Given the description of an element on the screen output the (x, y) to click on. 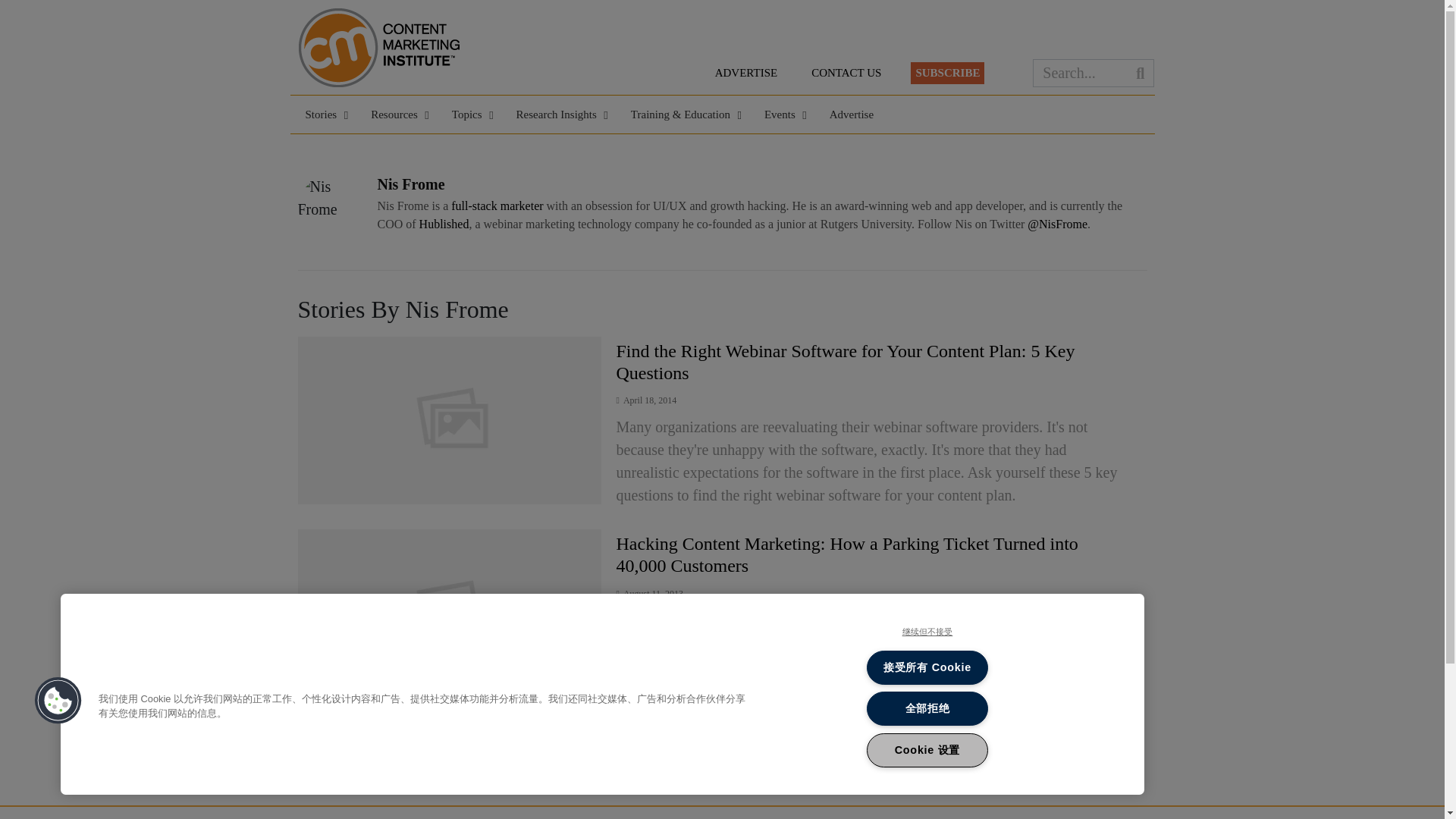
Cookies Button (57, 700)
CONTACT US (845, 73)
ADVERTISE (745, 73)
SUBSCRIBE (947, 73)
Resources (395, 114)
Topics (468, 114)
Stories (322, 114)
